Given the description of an element on the screen output the (x, y) to click on. 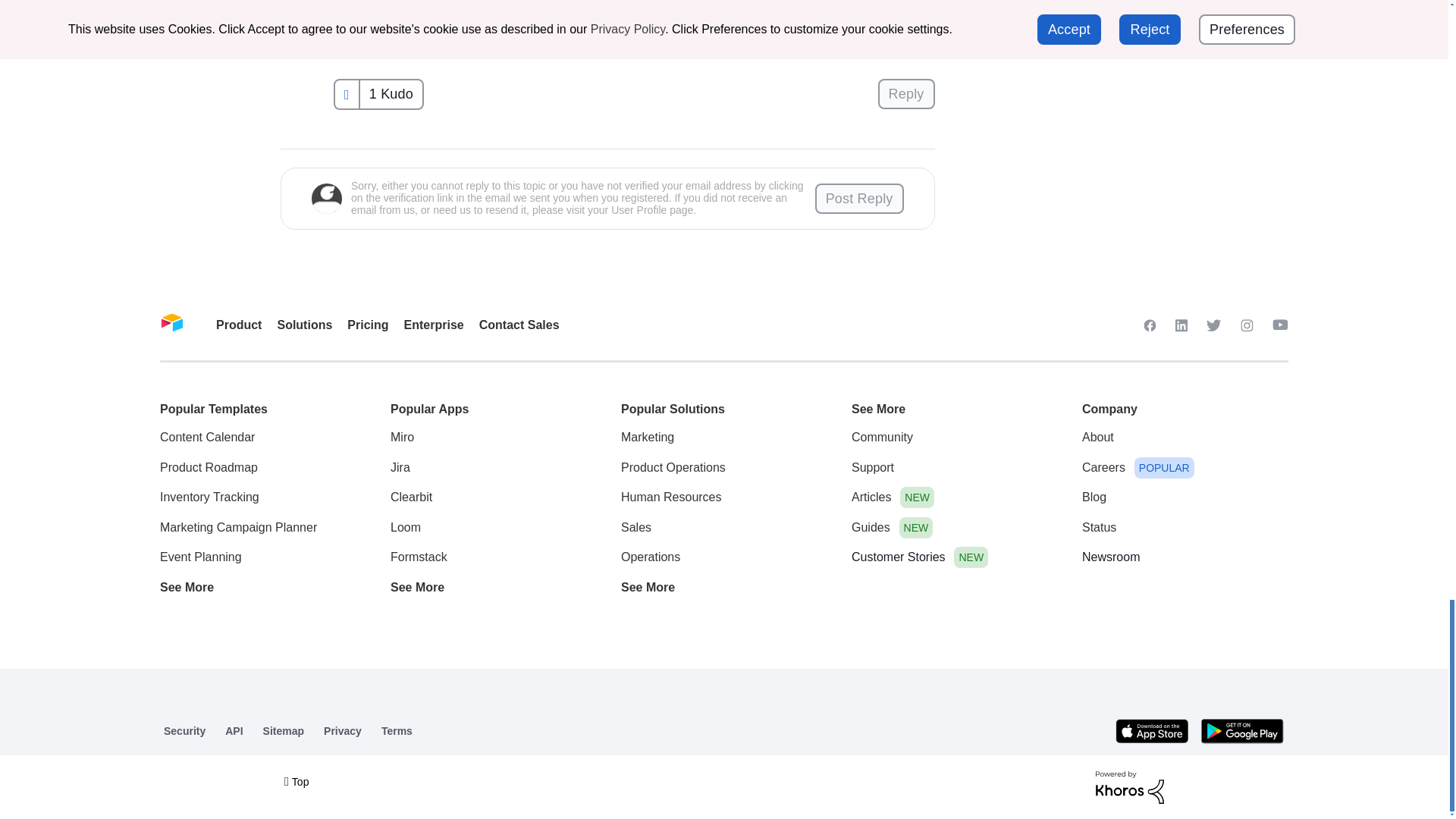
Top (296, 780)
Top (296, 780)
